Given the description of an element on the screen output the (x, y) to click on. 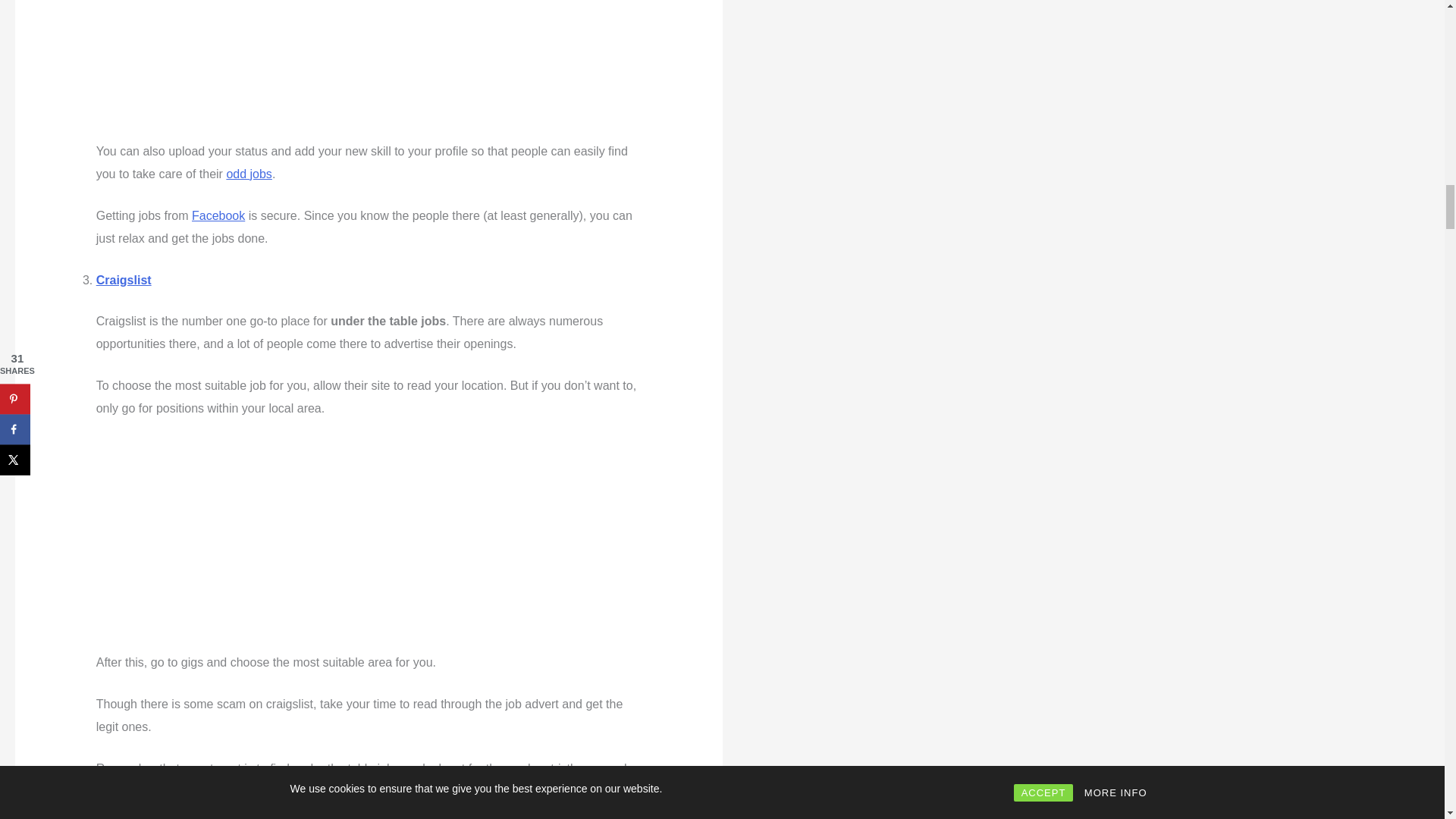
odd jobs (248, 173)
Facebook (218, 215)
Craigslist (123, 279)
